Given the description of an element on the screen output the (x, y) to click on. 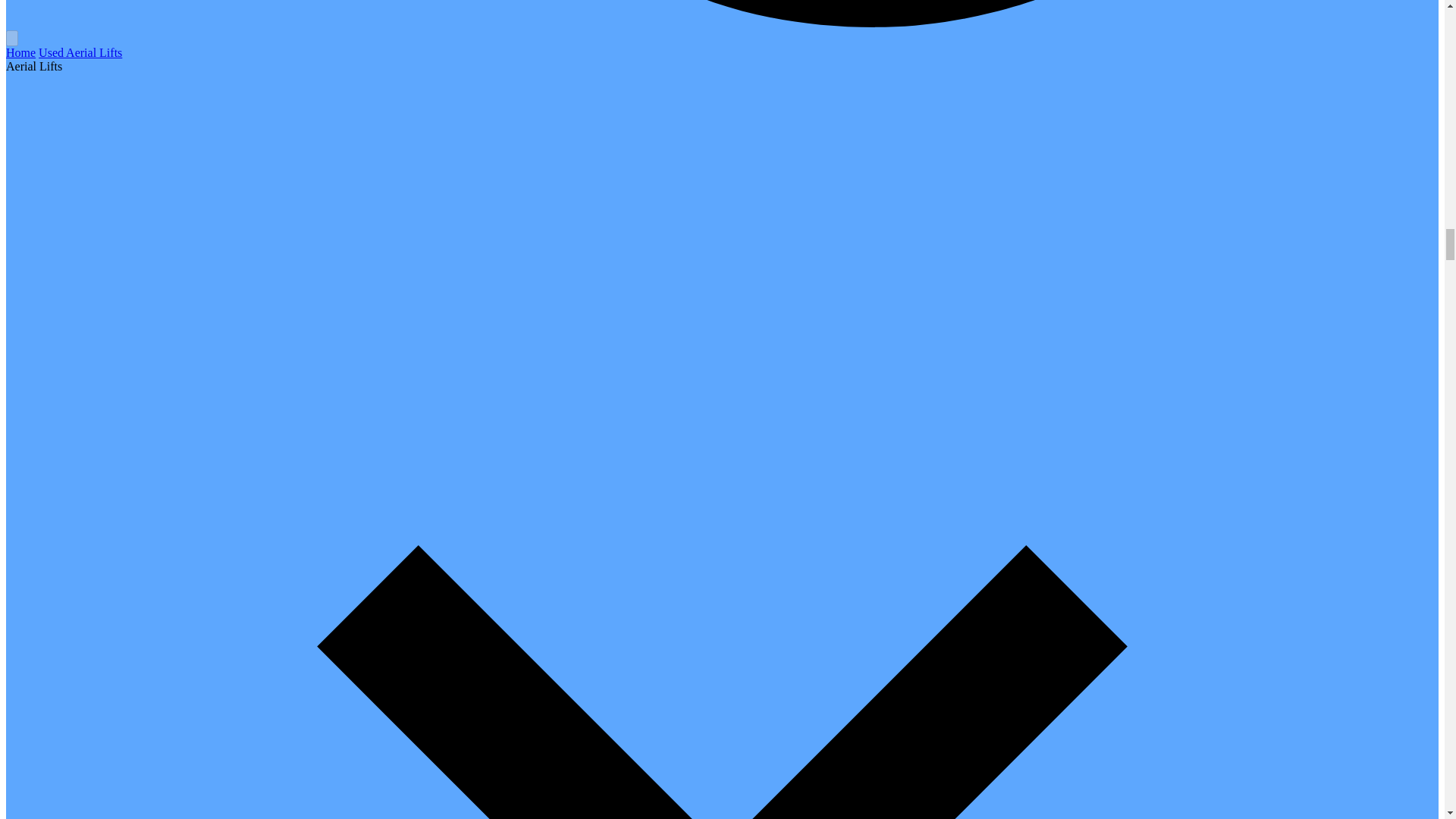
Home (19, 51)
Used Aerial Lifts (80, 51)
